Given the description of an element on the screen output the (x, y) to click on. 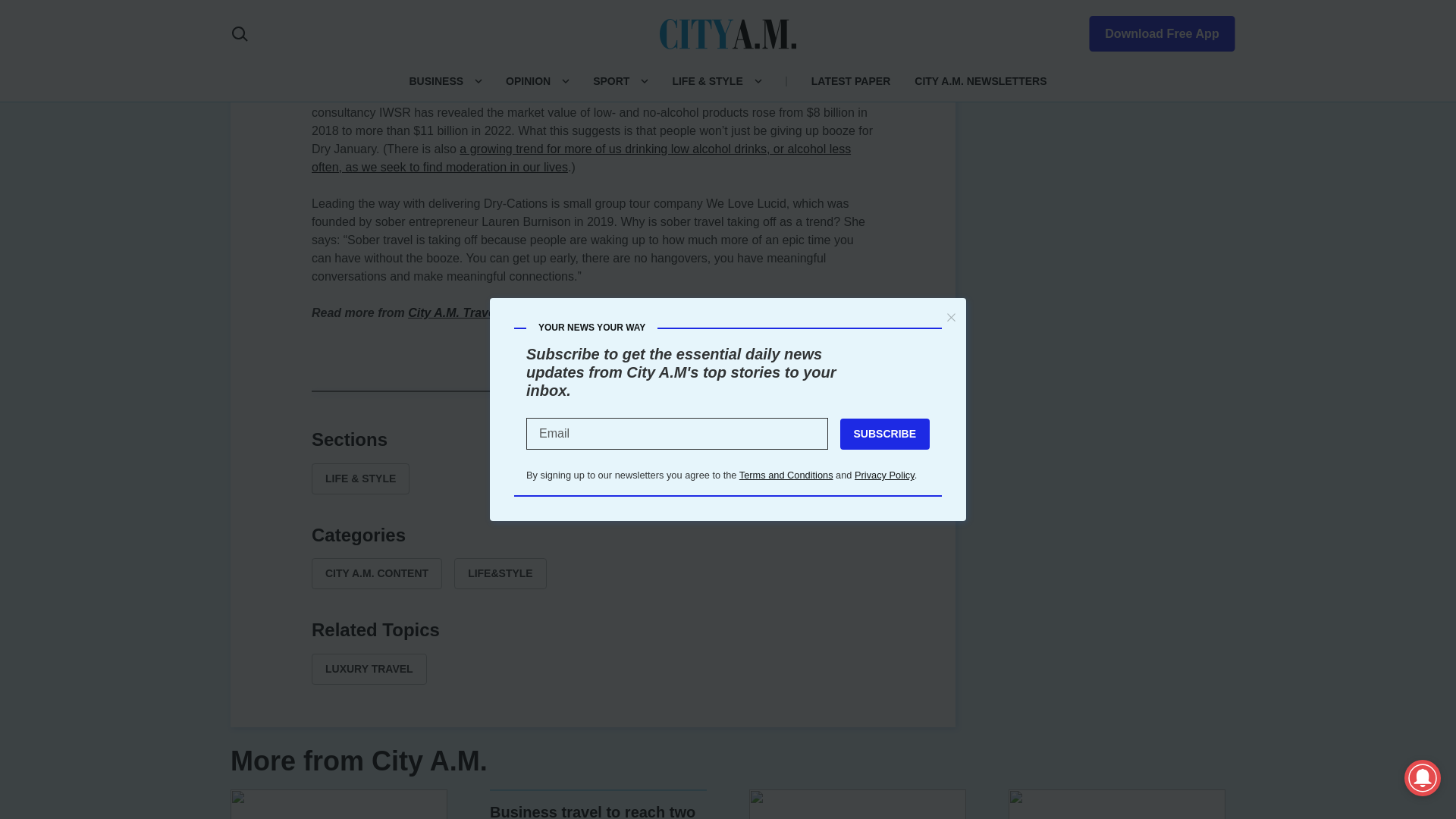
Facebook (520, 390)
LinkedIn (592, 390)
WhatsApp (629, 390)
X (556, 390)
Email (665, 390)
